Given the description of an element on the screen output the (x, y) to click on. 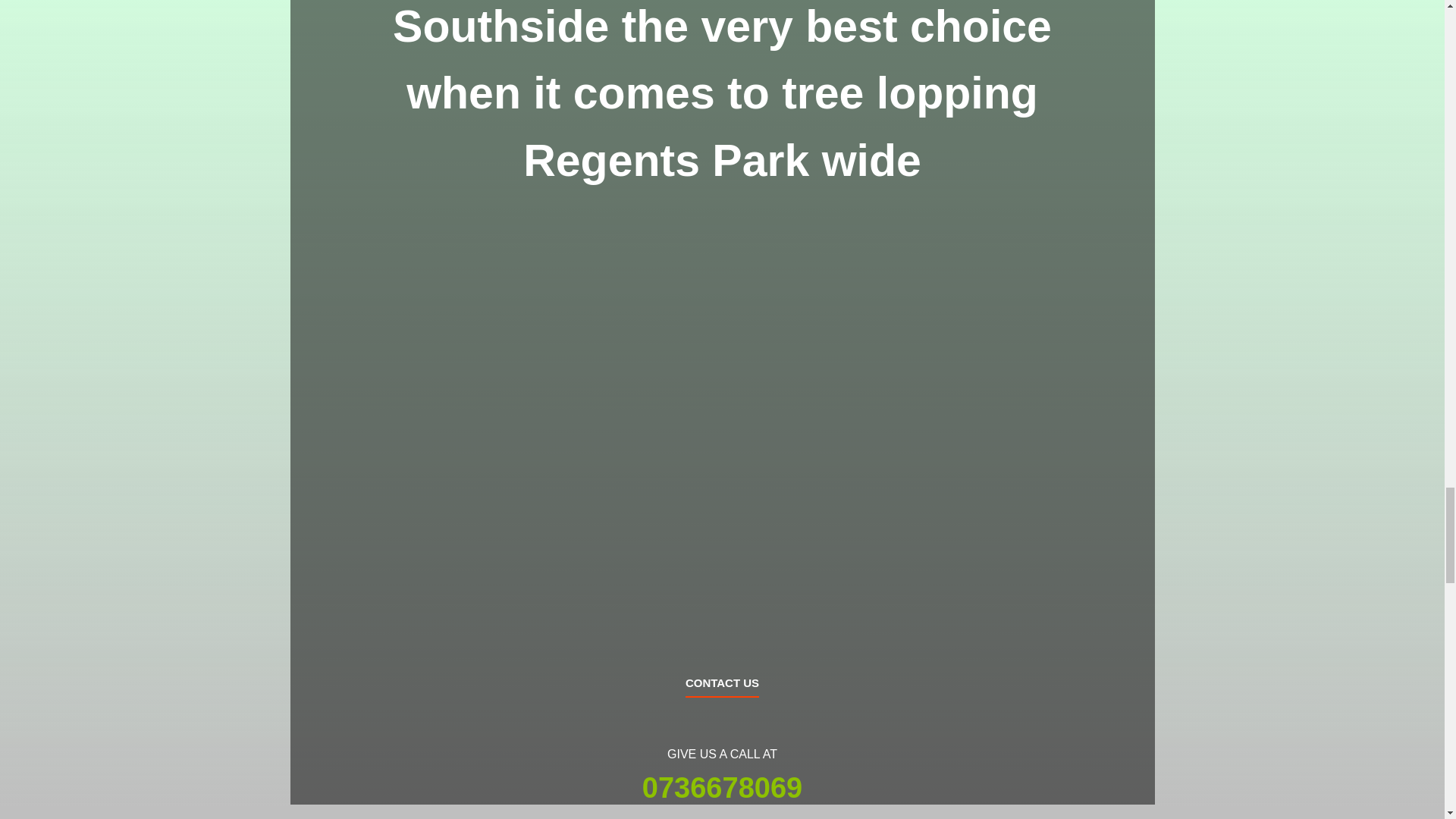
0736678069 (722, 787)
CONTACT US (721, 687)
